Given the description of an element on the screen output the (x, y) to click on. 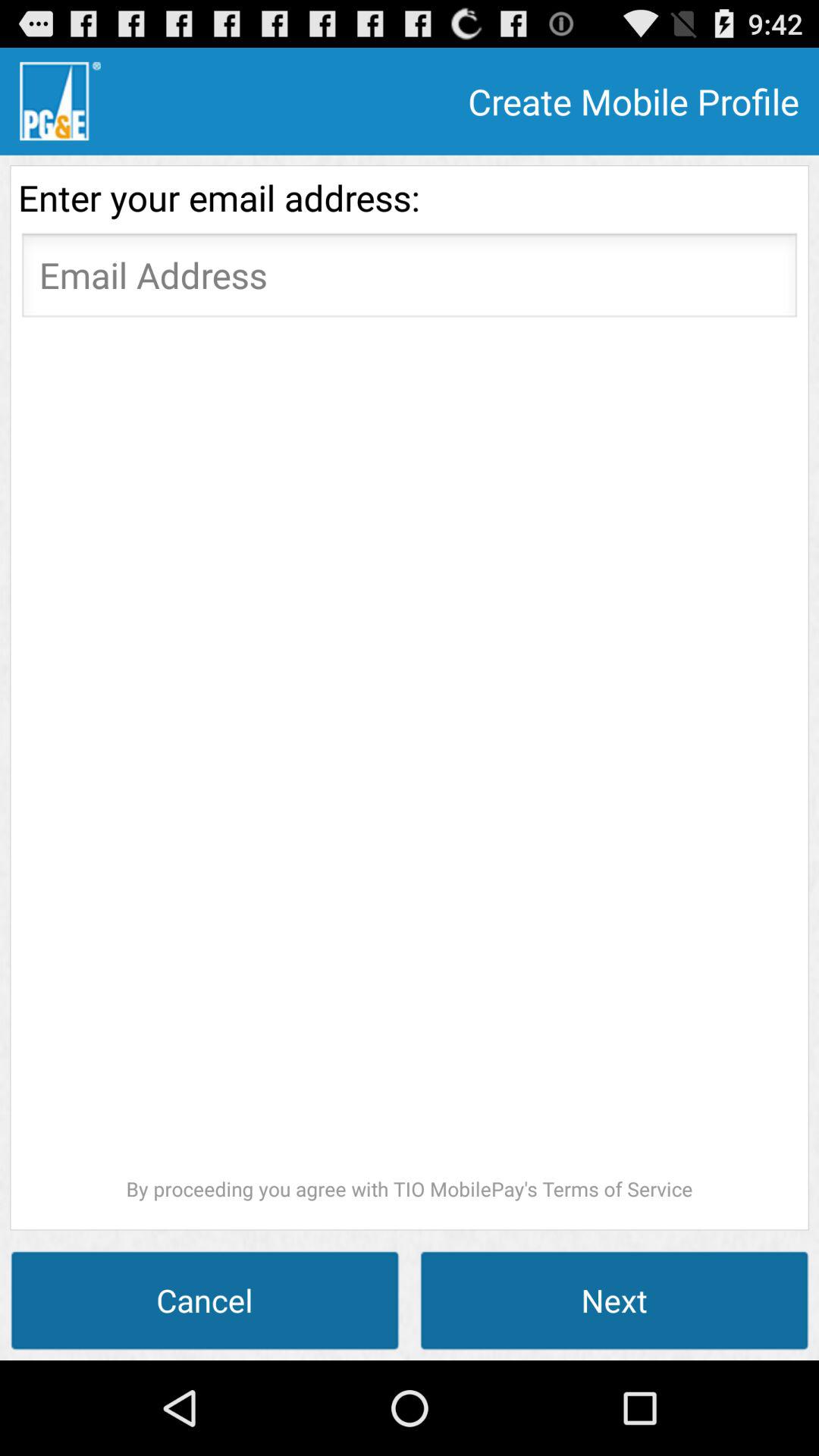
tap the item next to cancel button (613, 1300)
